Given the description of an element on the screen output the (x, y) to click on. 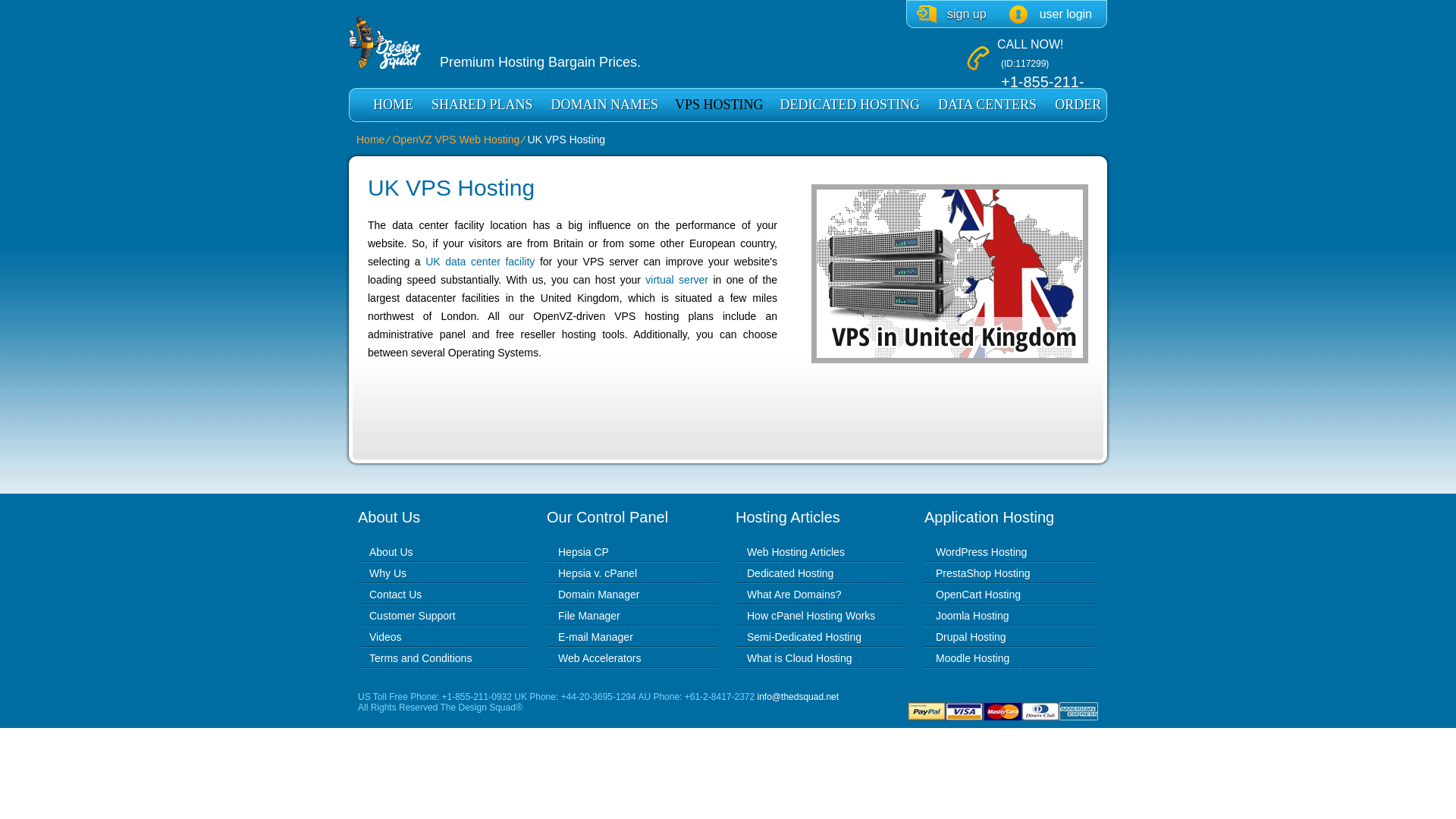
SHARED PLANS (481, 104)
virtual server (676, 279)
DEDICATED HOSTING (849, 104)
UK data center facility (479, 261)
VPS HOSTING (718, 104)
About Us (391, 551)
sign up (952, 13)
DATA CENTERS (986, 104)
Contact Us (395, 594)
HOME (393, 104)
Customer Support (412, 615)
Videos (385, 636)
ORDER (1077, 104)
OpenVZ VPS Web Hosting (455, 139)
user login (1050, 13)
